Given the description of an element on the screen output the (x, y) to click on. 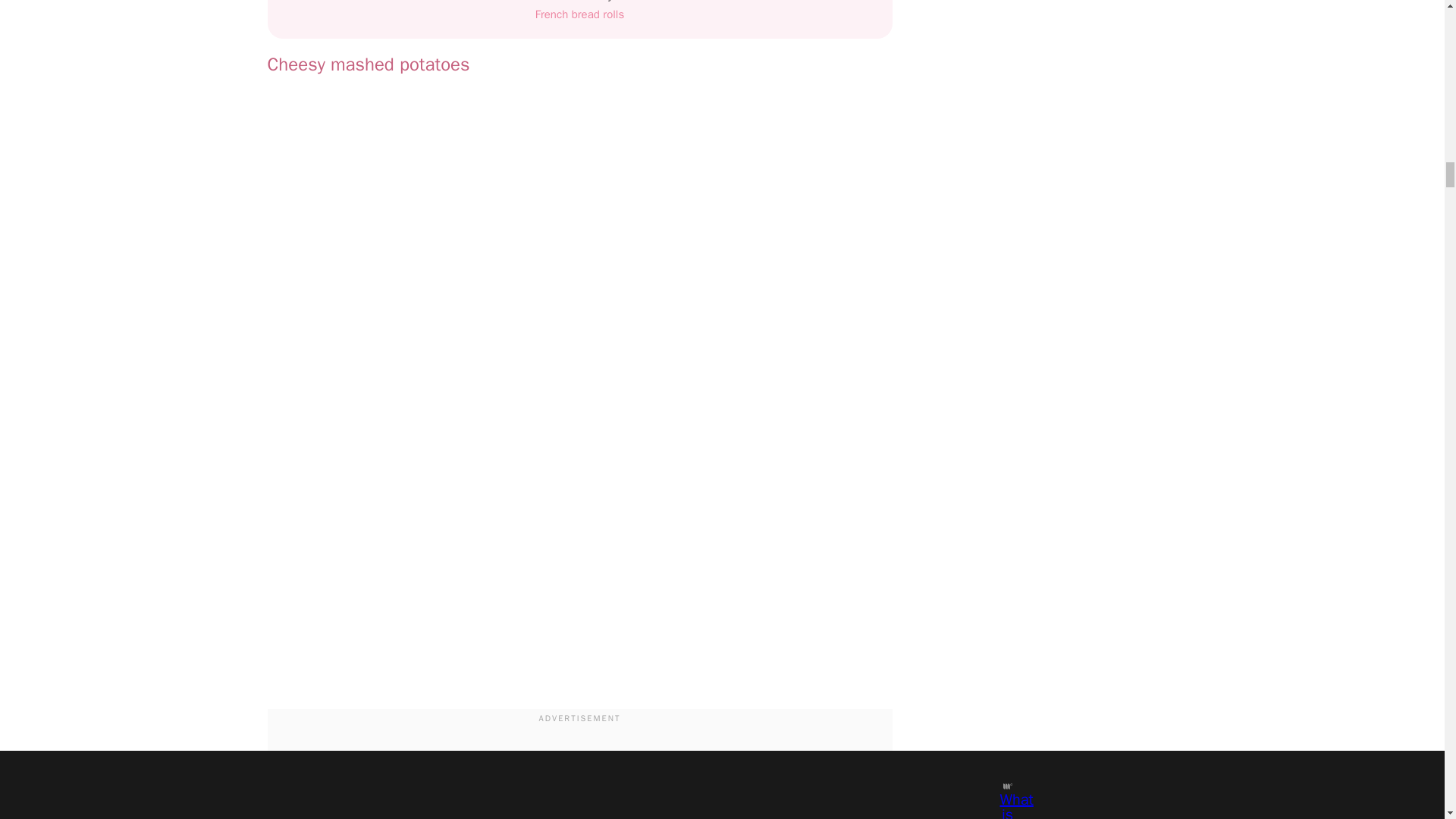
French bread rolls (579, 14)
